Given the description of an element on the screen output the (x, y) to click on. 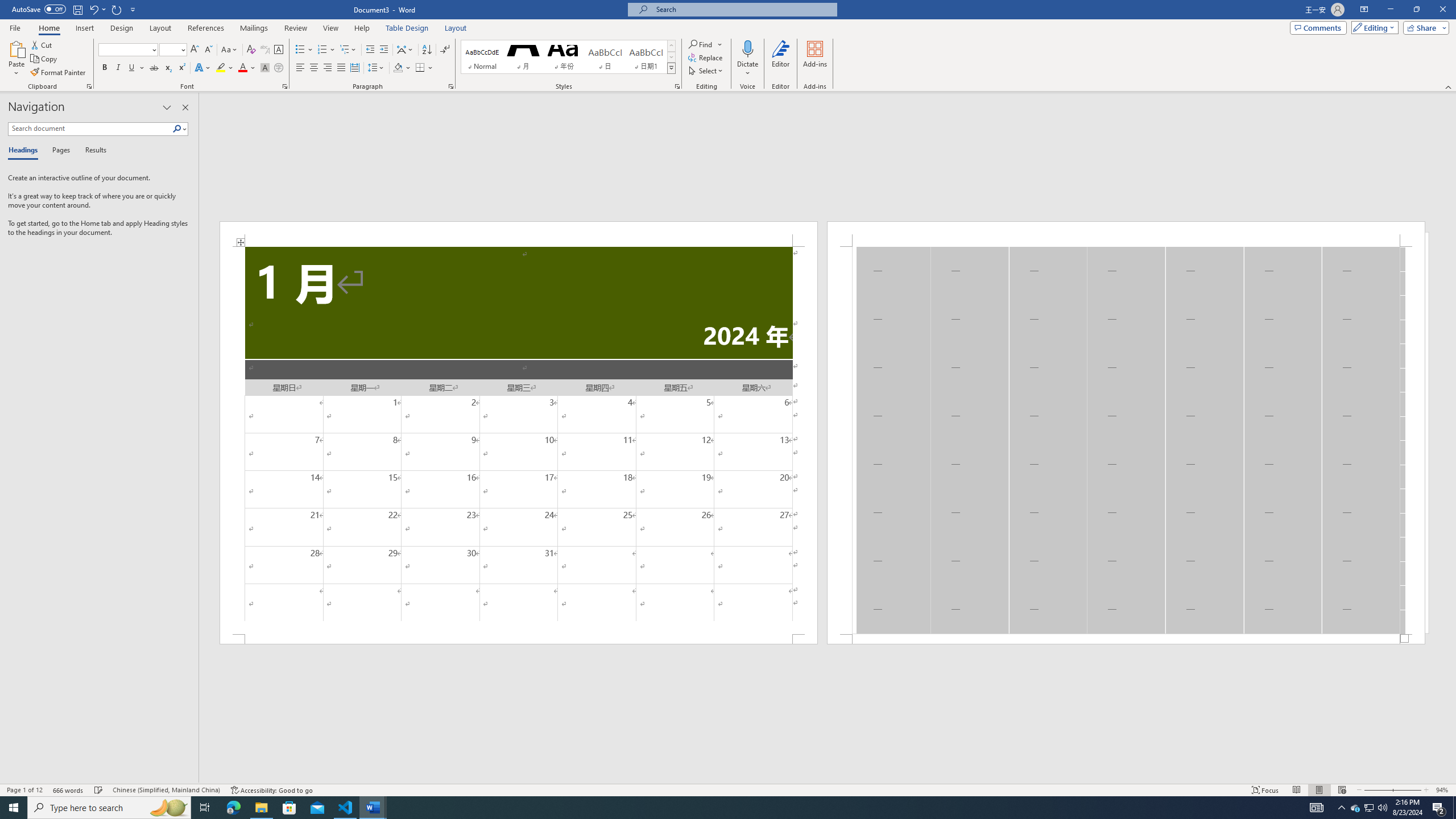
Header -Section 1- (1126, 233)
Review (295, 28)
Zoom Out (1377, 790)
Repeat Style (117, 9)
Shrink Font (208, 49)
Cut (42, 44)
Phonetic Guide... (264, 49)
Bullets (300, 49)
Collapse the Ribbon (1448, 86)
Distributed (354, 67)
Subscript (167, 67)
Spelling and Grammar Check Checking (98, 790)
